Given the description of an element on the screen output the (x, y) to click on. 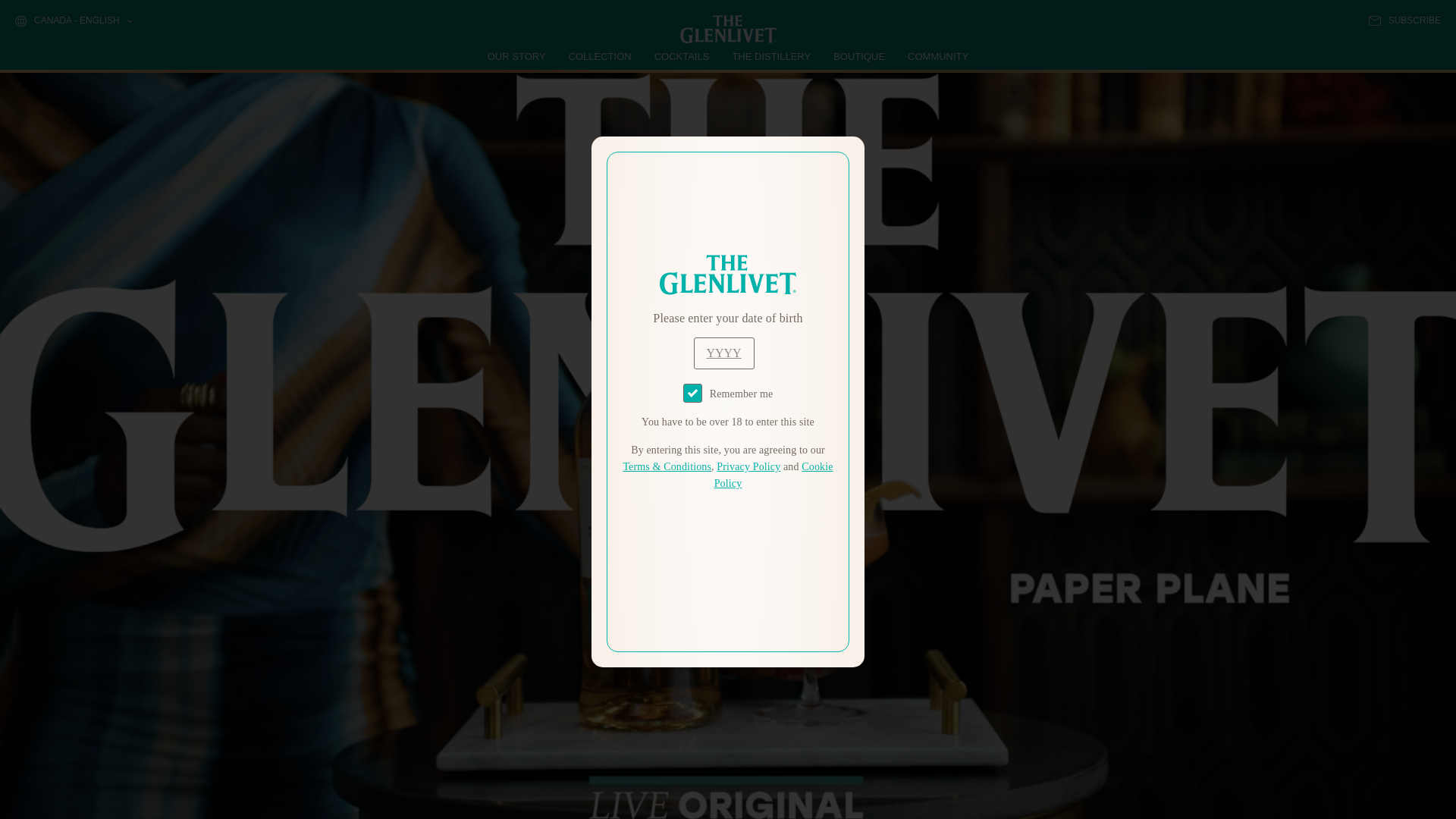
OUR STORY (516, 56)
COLLECTION (600, 56)
year (723, 353)
SUBSCRIBE (1404, 20)
COMMUNITY (937, 56)
THE DISTILLERY (771, 56)
COCKTAILS (681, 56)
BOUTIQUE (858, 56)
CANADA - ENGLISH (73, 21)
Cookie Policy (773, 474)
Privacy Policy (748, 466)
